Given the description of an element on the screen output the (x, y) to click on. 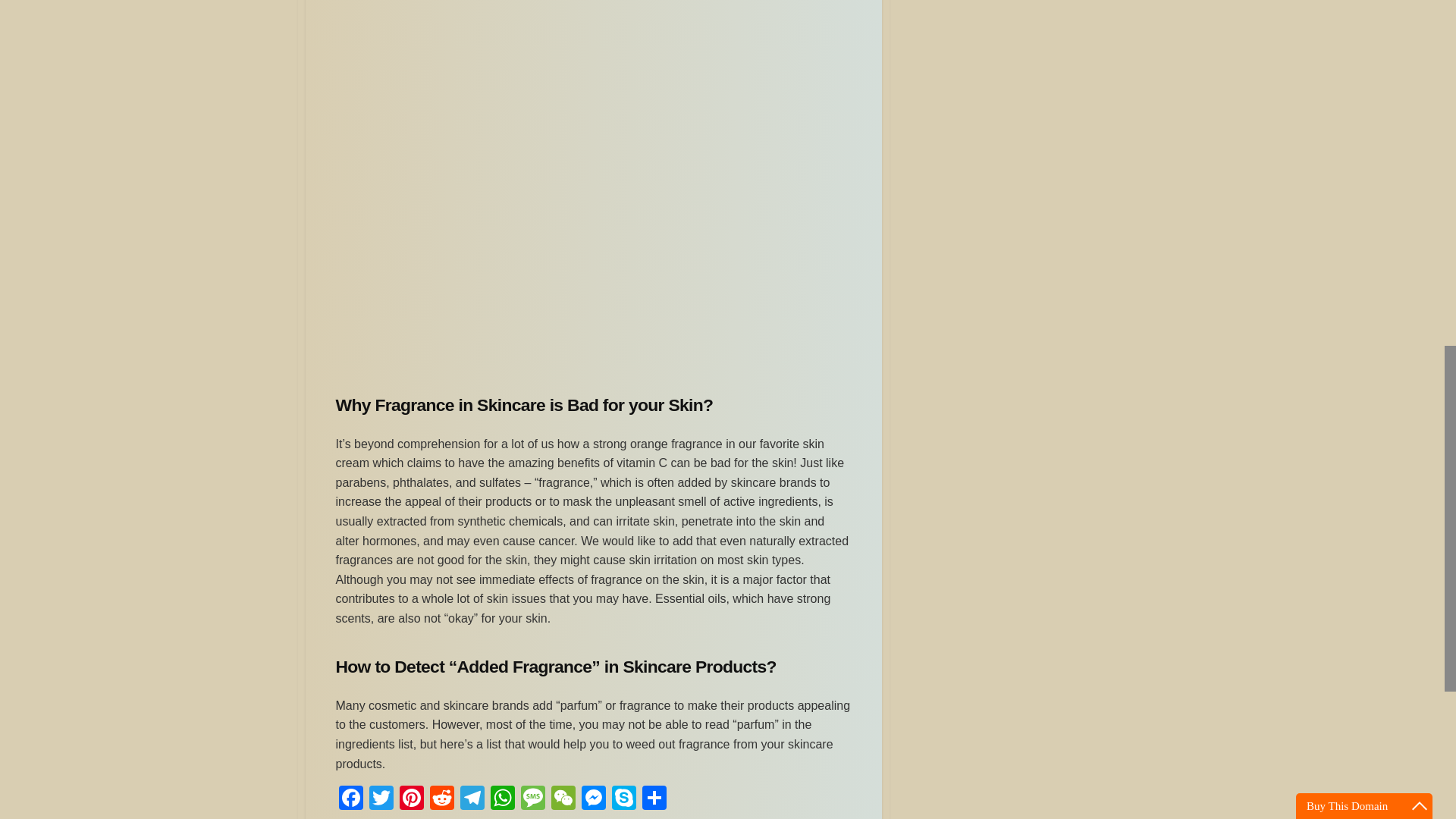
Reddit (441, 799)
Facebook (349, 799)
Skype (623, 799)
WeChat (562, 799)
Message (531, 799)
Messenger (593, 799)
WhatsApp (501, 799)
WhatsApp (501, 799)
Telegram (471, 799)
Telegram (471, 799)
Pinterest (411, 799)
Facebook (349, 799)
Reddit (441, 799)
Pinterest (411, 799)
Twitter (380, 799)
